Given the description of an element on the screen output the (x, y) to click on. 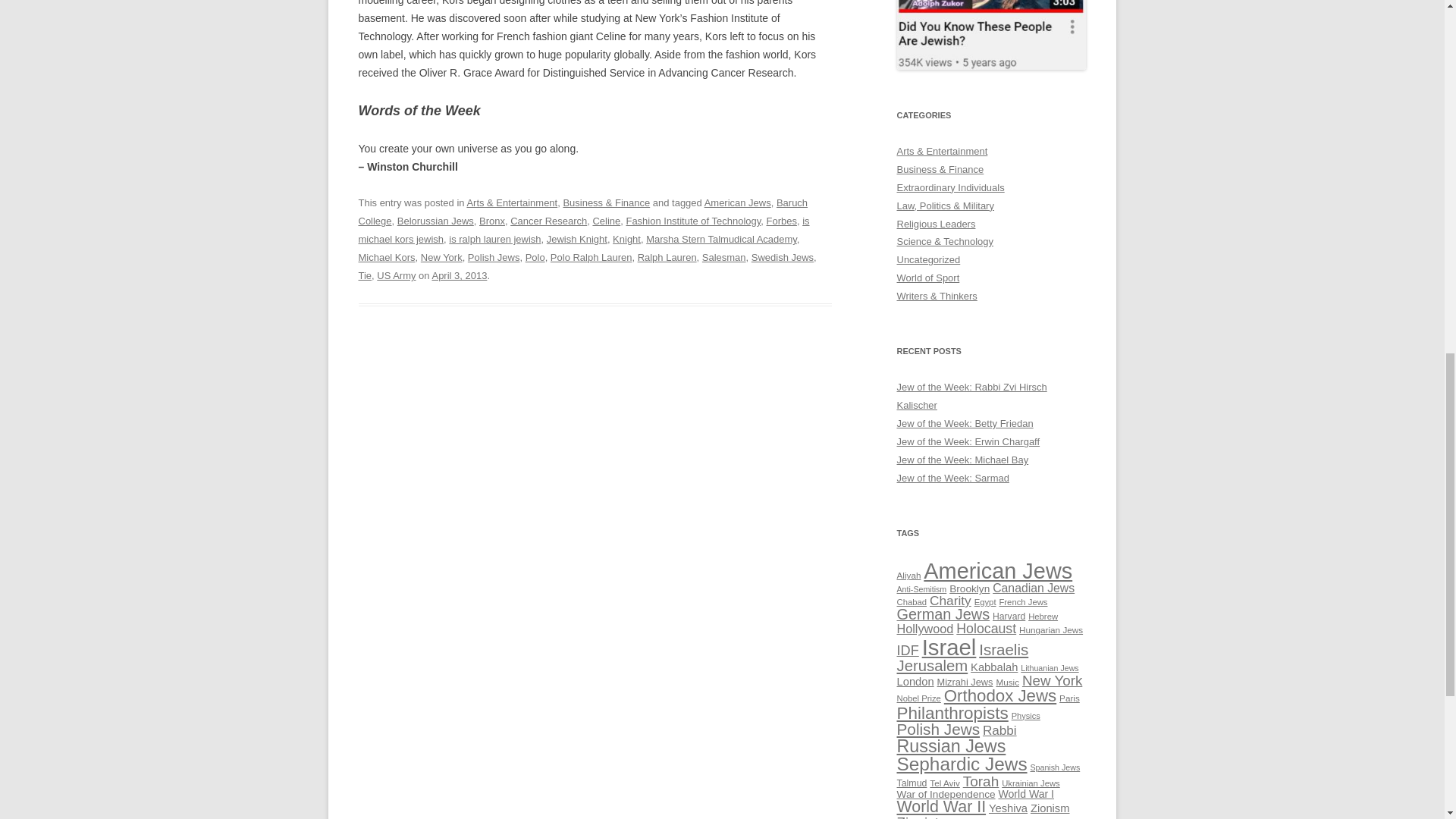
Knight (626, 238)
Polish Jews (493, 256)
April 3, 2013 (458, 275)
US Army (395, 275)
Fashion Institute of Technology (693, 220)
Bronx (492, 220)
3:50 pm (458, 275)
Forbes (780, 220)
American Jews (737, 202)
Jewish Knight (577, 238)
is ralph lauren jewish (494, 238)
Michael Kors (386, 256)
Salesman (723, 256)
Tie (364, 275)
Ralph Lauren (667, 256)
